Given the description of an element on the screen output the (x, y) to click on. 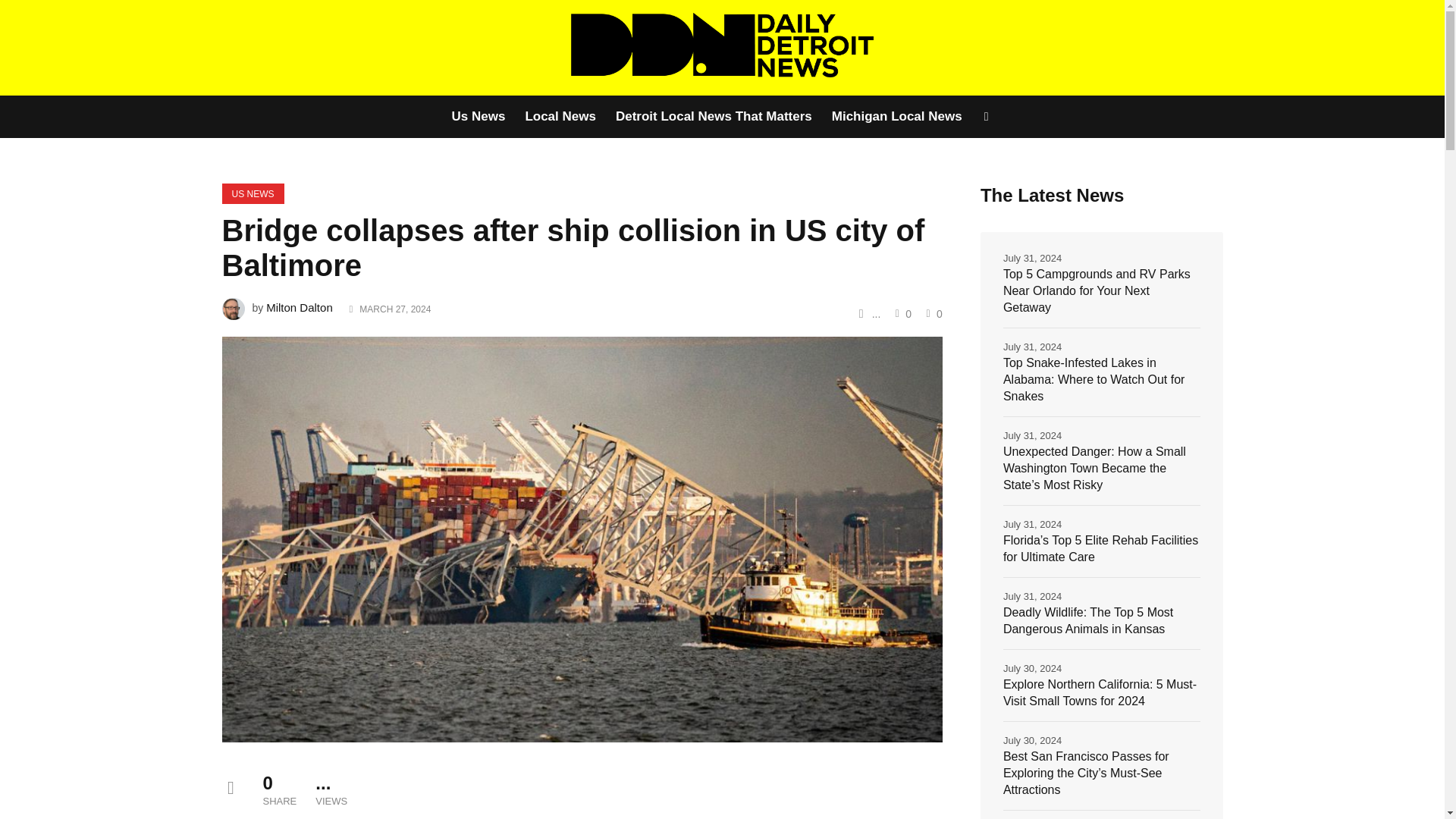
0 (901, 313)
US NEWS (252, 193)
March 27, 2024 (394, 309)
Us News (482, 116)
Posts by Milton Dalton (299, 307)
0 (932, 313)
Local News (560, 116)
Milton Dalton (299, 307)
Detroit Local News That Matters (713, 116)
Michigan Local News (897, 116)
